Given the description of an element on the screen output the (x, y) to click on. 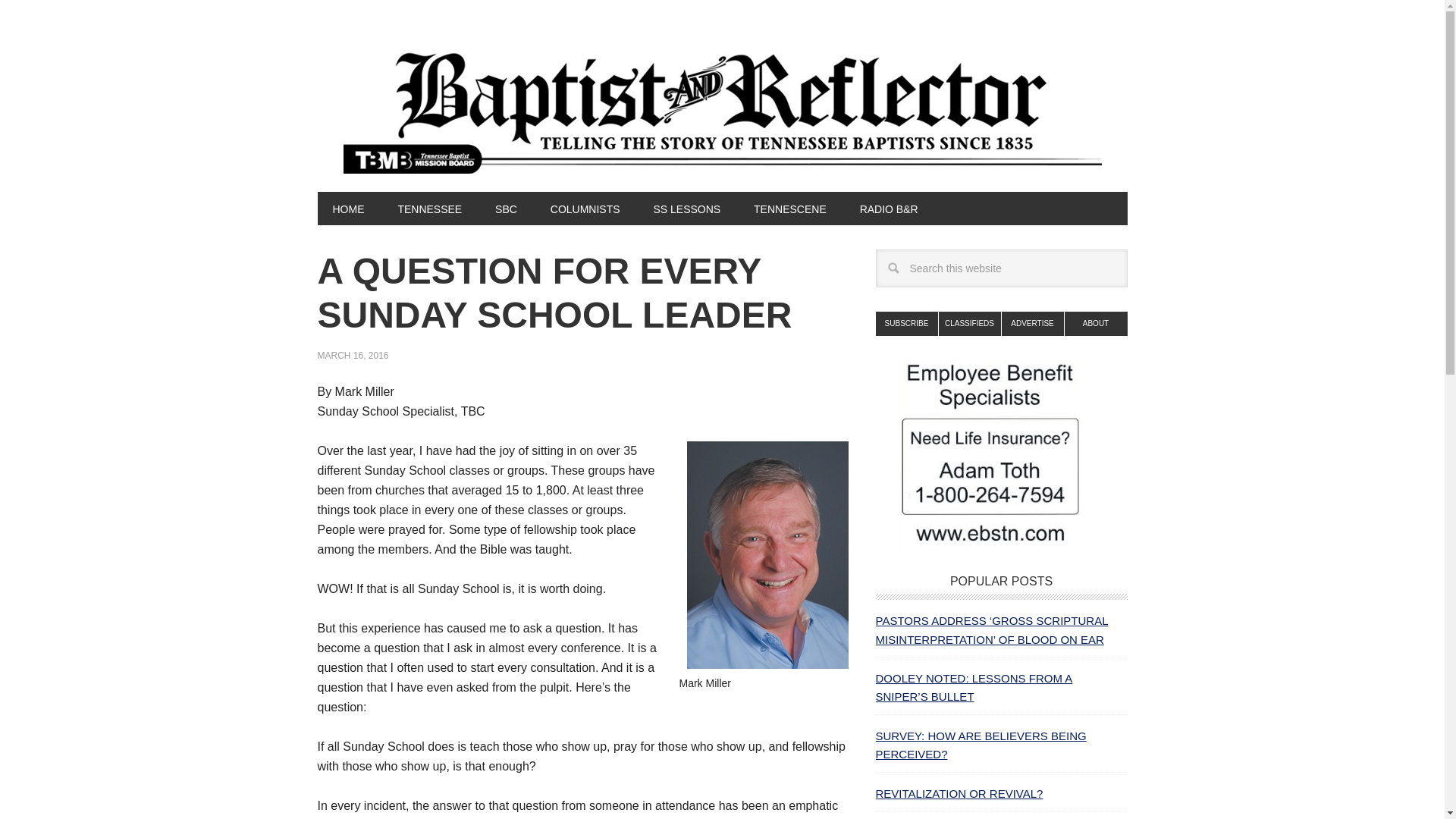
SUBSCRIBE (906, 323)
ABOUT (1095, 323)
TENNESSEE (429, 208)
TENNESCENE (789, 208)
REVITALIZATION OR REVIVAL? (958, 793)
ADVERTISE (1032, 323)
COLUMNISTS (584, 208)
HOME (347, 208)
SURVEY: HOW ARE BELIEVERS BEING PERCEIVED? (980, 744)
SS LESSONS (686, 208)
SBC (506, 208)
CLASSIFIEDS (970, 323)
